Given the description of an element on the screen output the (x, y) to click on. 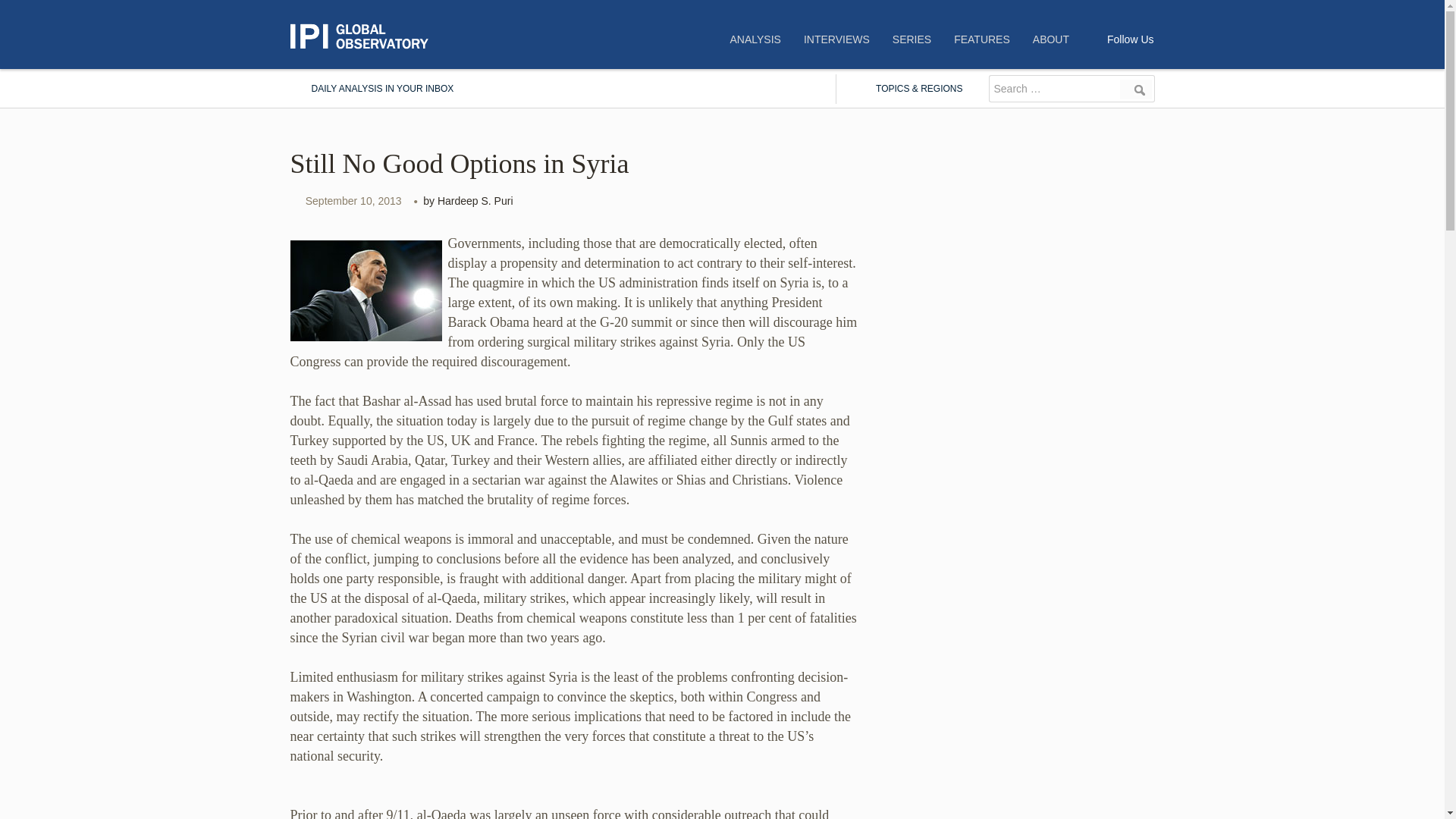
Follow Us (1130, 39)
INTERVIEWS (836, 39)
Search for: (1053, 88)
search (1136, 88)
SERIES (911, 39)
IPI Global Observatory (365, 36)
ABOUT (1051, 39)
Permalink to Still No Good Options in Syria (353, 200)
ANALYSIS (754, 39)
FEATURES (982, 39)
